Given the description of an element on the screen output the (x, y) to click on. 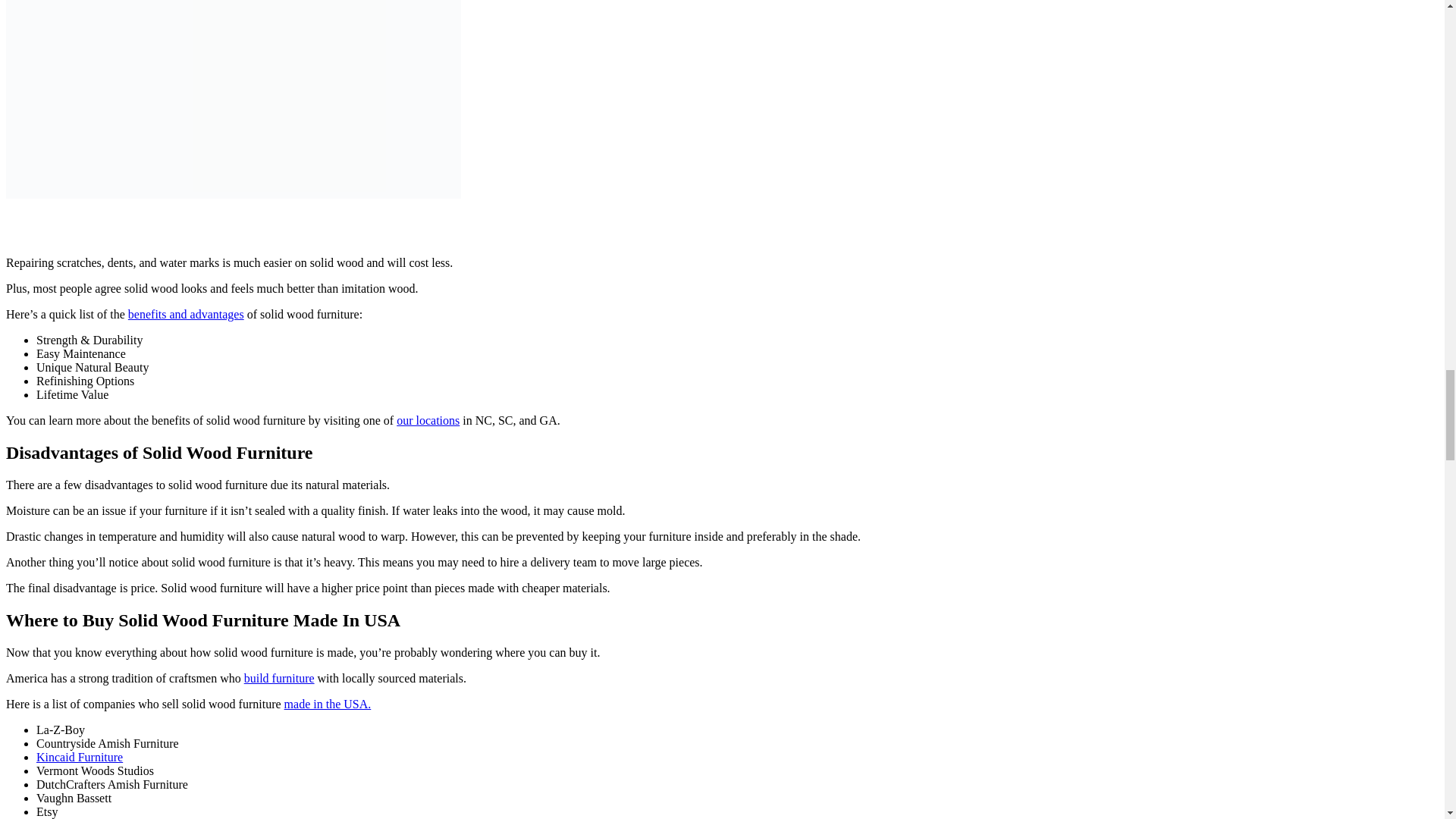
Kincaid Furniture (79, 757)
our locations (428, 420)
benefits and advantages (186, 314)
made in the USA. (327, 703)
build furniture (279, 677)
